Given the description of an element on the screen output the (x, y) to click on. 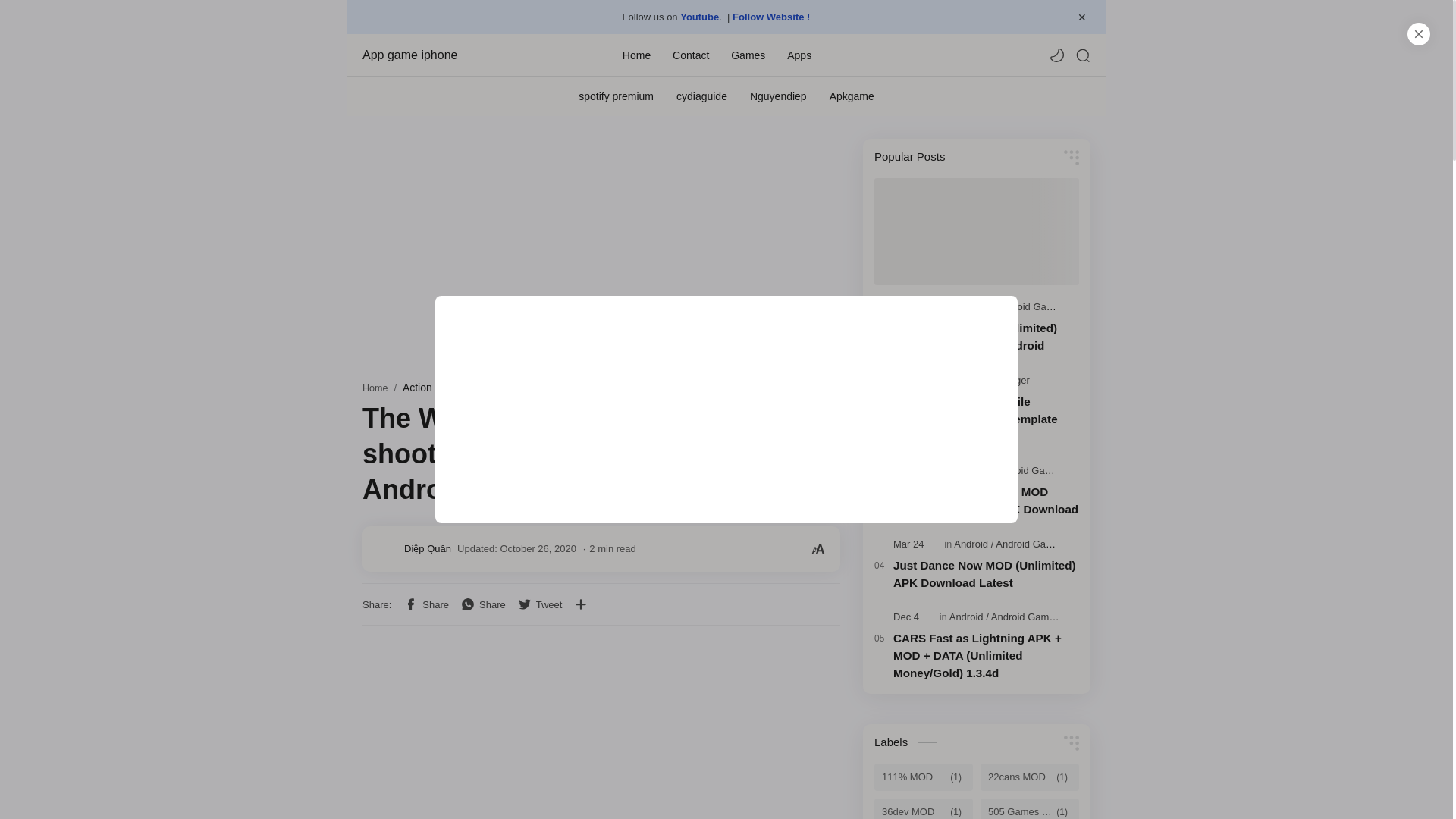
Contact (690, 54)
Youtube (699, 16)
Last updated: October 26, 2020 (516, 548)
Home (636, 54)
App game iphone (437, 55)
